Given the description of an element on the screen output the (x, y) to click on. 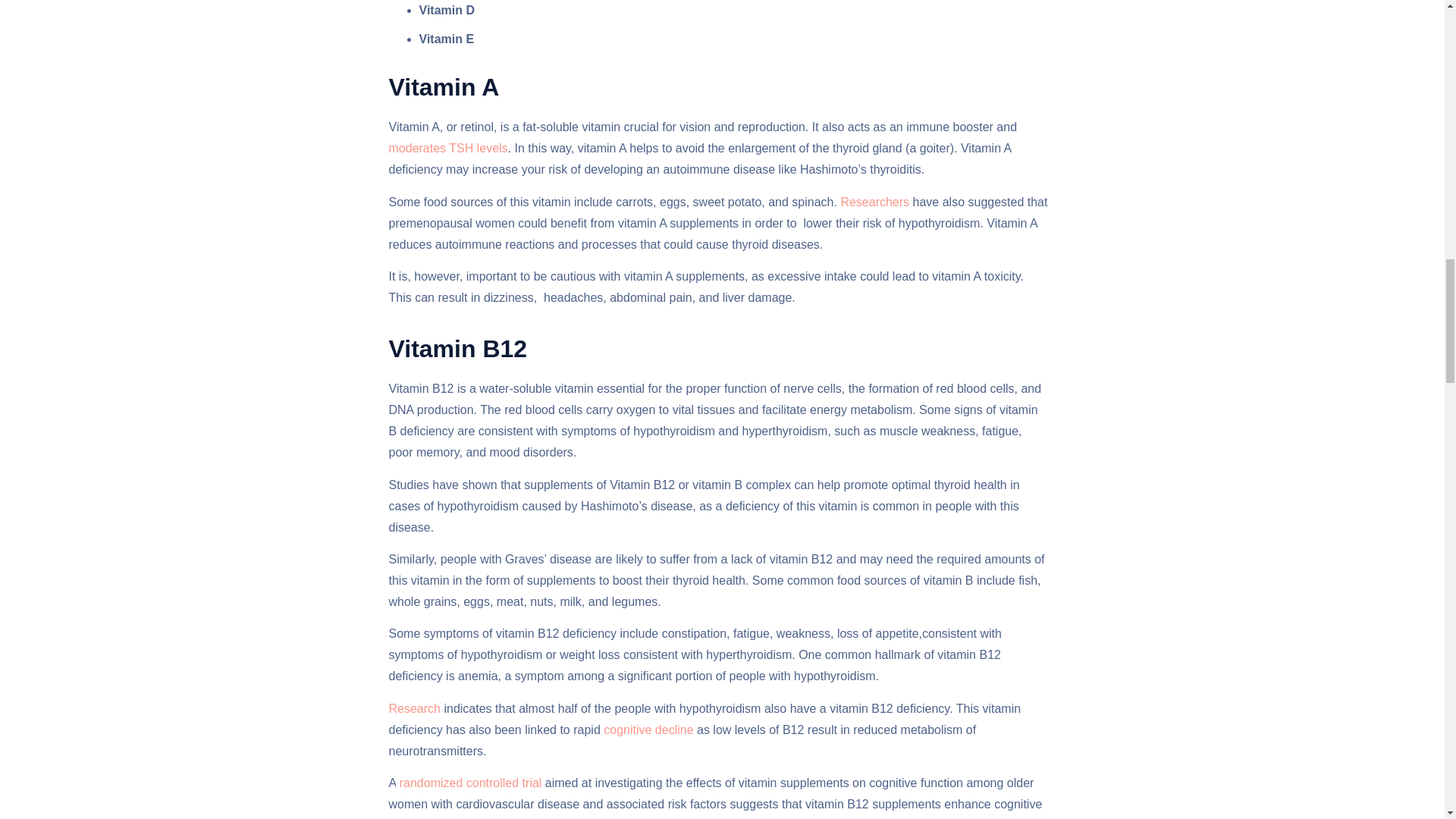
moderates TSH levels (447, 147)
cognitive decline (648, 729)
randomized controlled trial (468, 782)
Research (413, 707)
Researchers (872, 201)
